Given the description of an element on the screen output the (x, y) to click on. 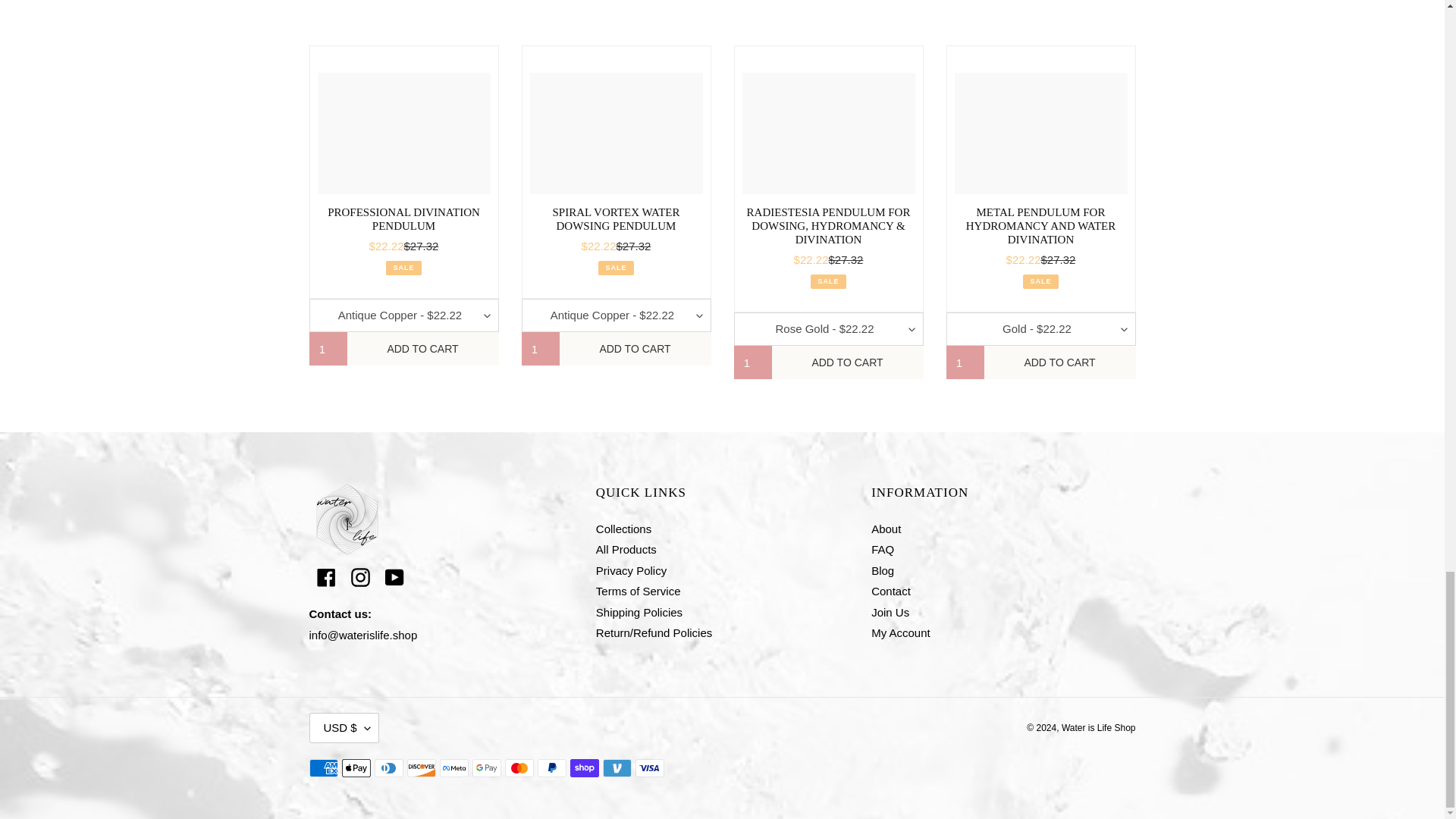
Add to cart (635, 348)
1 (327, 348)
1 (540, 348)
1 (965, 362)
Add to cart (847, 362)
Add to cart (1059, 362)
Add to cart (423, 348)
1 (752, 362)
